Given the description of an element on the screen output the (x, y) to click on. 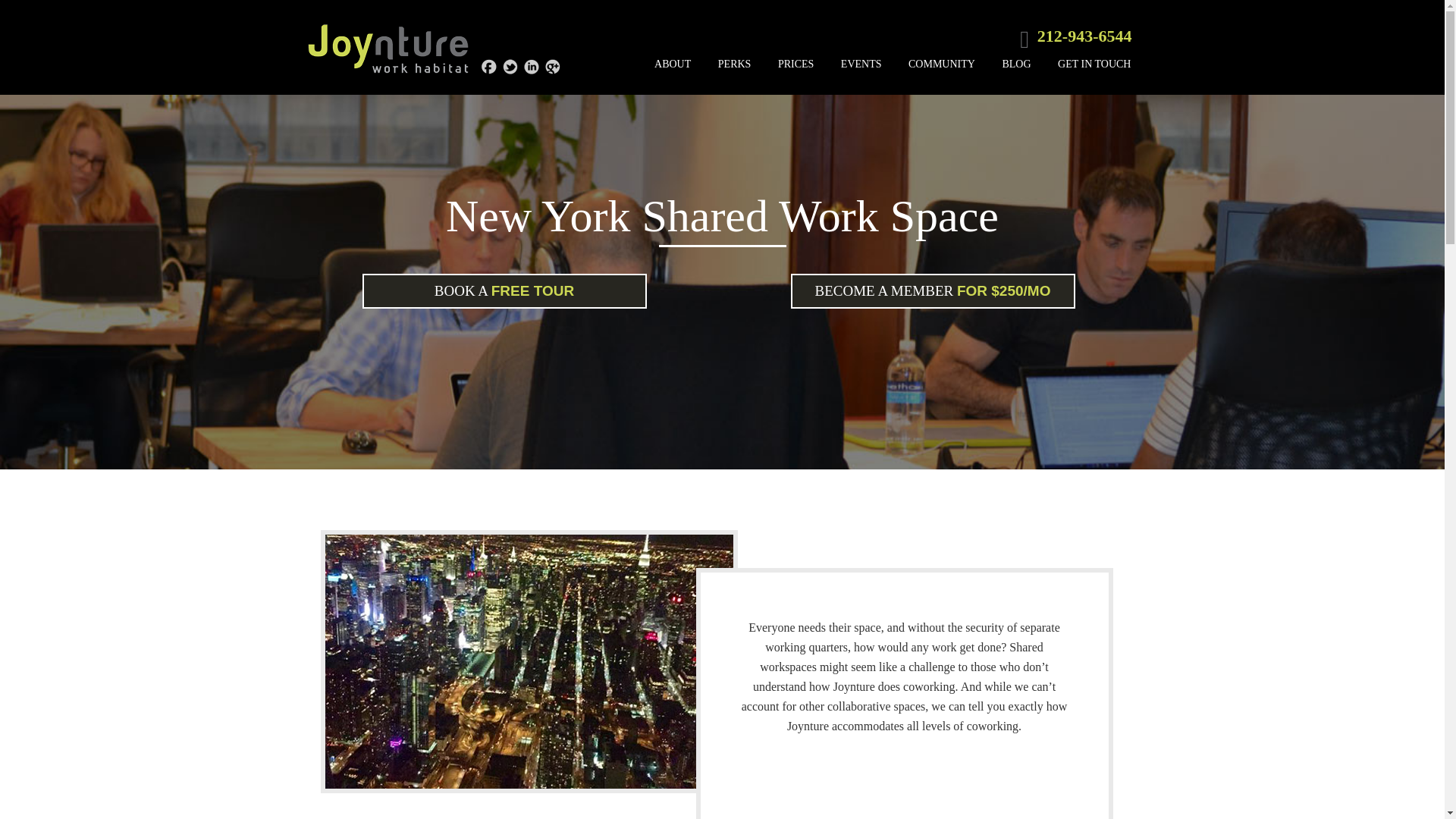
 Joynture (388, 48)
PRICES (795, 64)
EVENTS (860, 64)
PERKS (734, 64)
BLOG (1016, 64)
ABOUT (672, 64)
COMMUNITY (941, 64)
GET IN TOUCH (1093, 64)
